Given the description of an element on the screen output the (x, y) to click on. 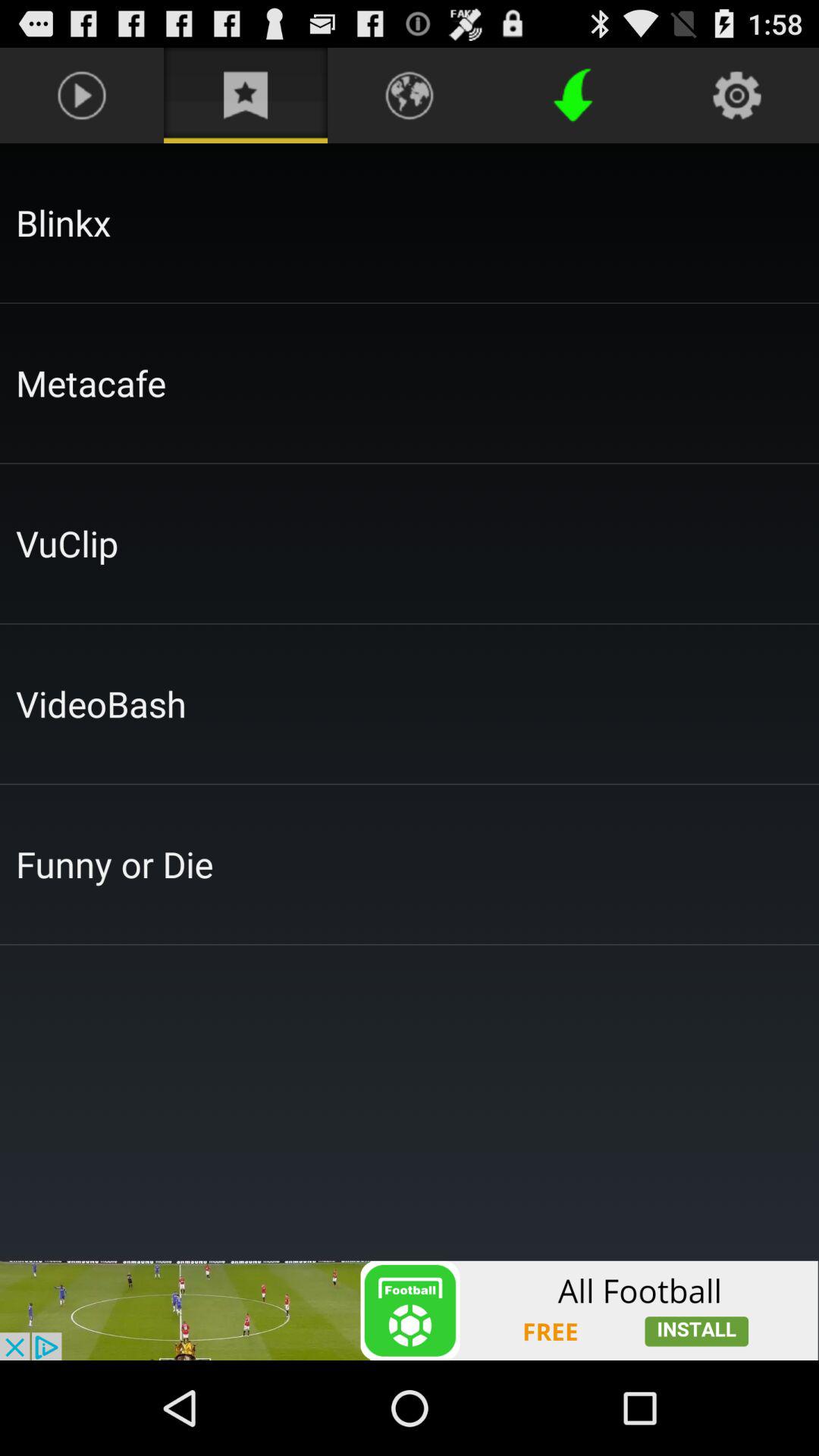
in app advertisement (409, 1310)
